Given the description of an element on the screen output the (x, y) to click on. 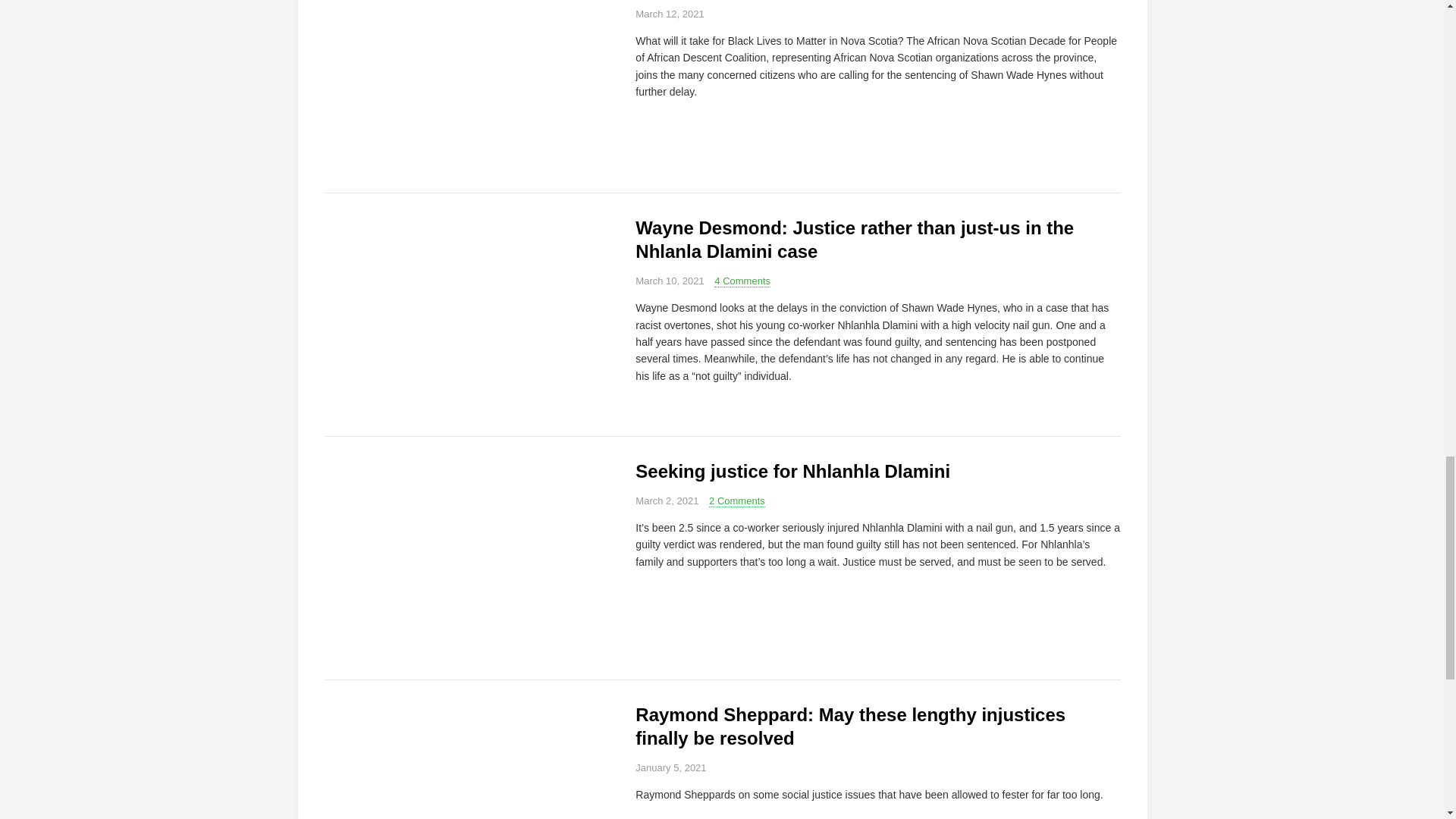
Friday, March 12, 2021, 10:38 am (668, 13)
Tuesday, January 5, 2021, 4:21 pm (670, 767)
Wednesday, March 10, 2021, 9:48 am (668, 280)
Tuesday, March 2, 2021, 3:21 pm (666, 500)
